Given the description of an element on the screen output the (x, y) to click on. 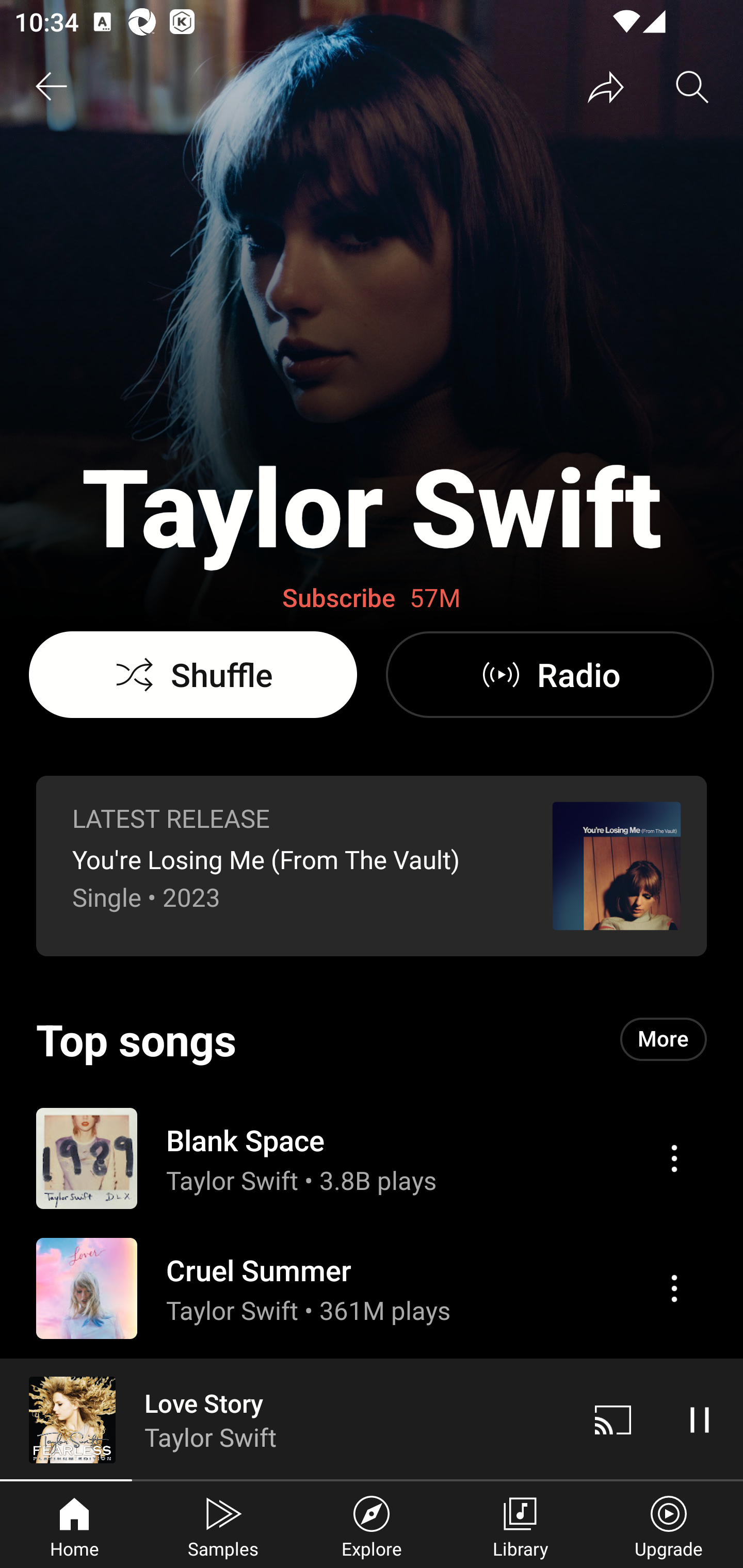
Back (50, 86)
Share (605, 86)
Search (692, 86)
Subscribe 57M (371, 598)
Shuffle (192, 674)
Radio (549, 674)
Action menu (371, 1157)
Action menu (673, 1158)
Action menu (371, 1288)
Action menu (673, 1288)
Love Story Taylor Swift (284, 1419)
Cast. Disconnected (612, 1419)
Pause video (699, 1419)
Home (74, 1524)
Samples (222, 1524)
Explore (371, 1524)
Library (519, 1524)
Upgrade (668, 1524)
